Given the description of an element on the screen output the (x, y) to click on. 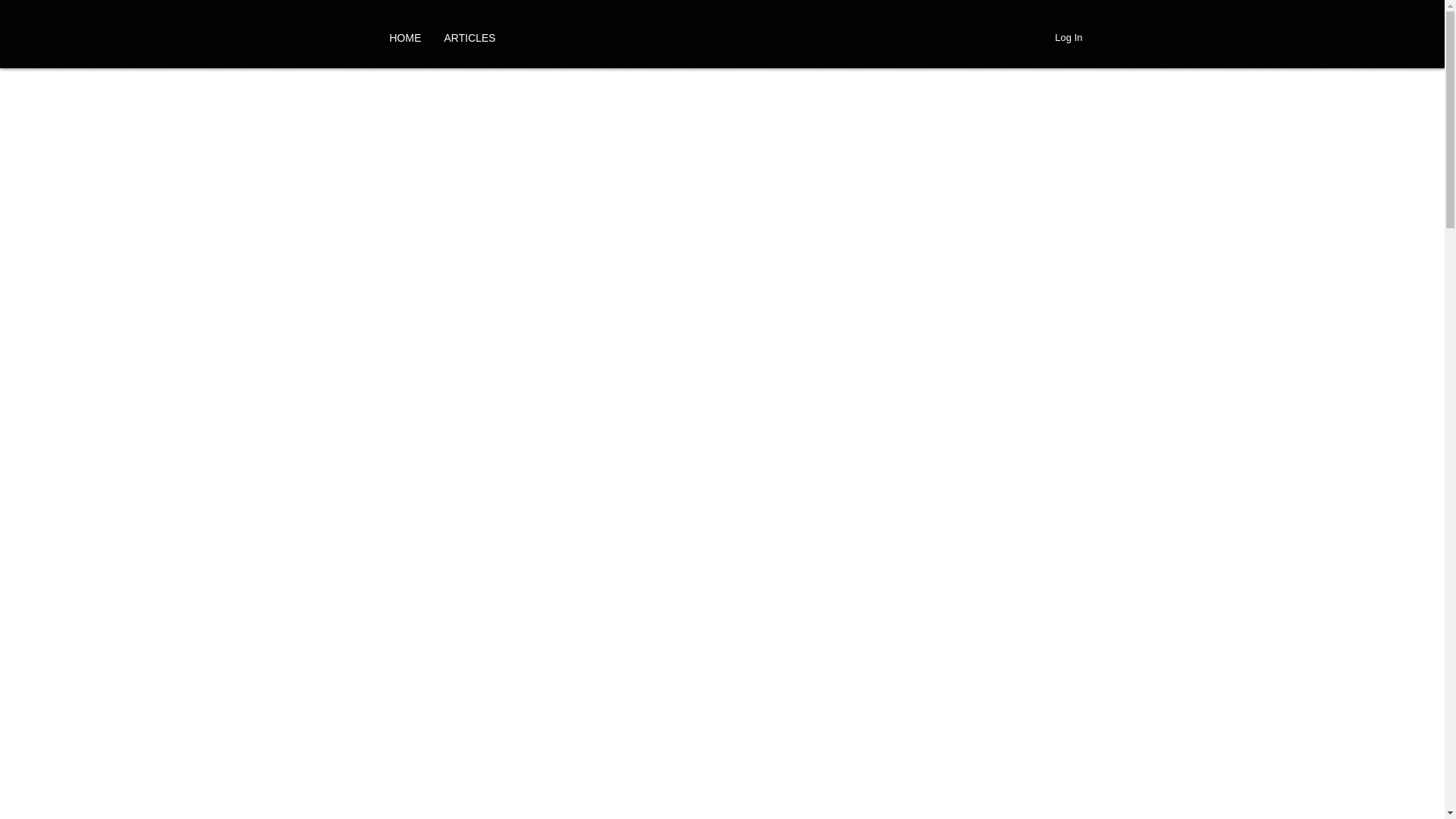
HOME (404, 37)
ARTICLES (468, 37)
Log In (1068, 37)
